Given the description of an element on the screen output the (x, y) to click on. 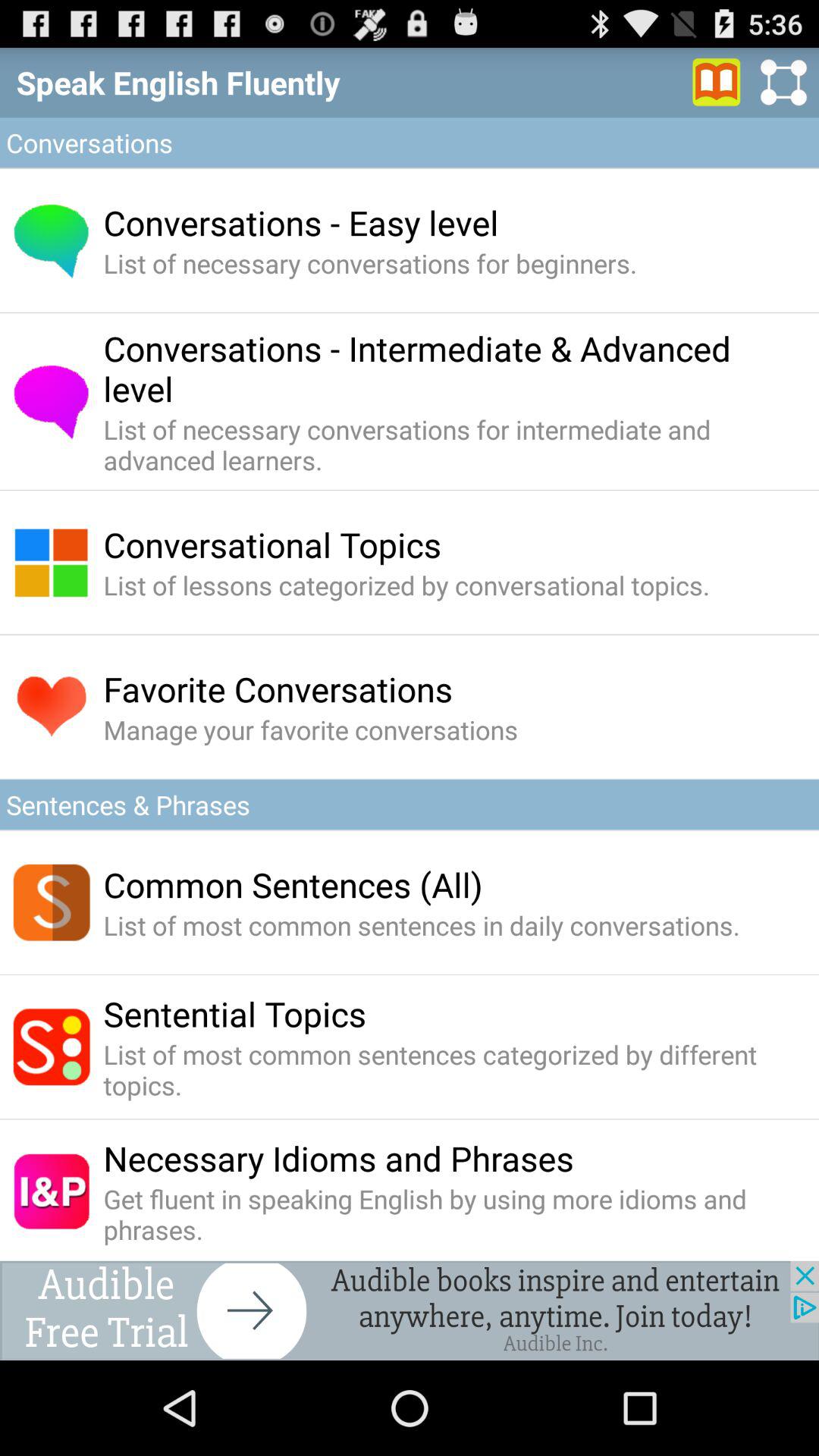
save this page (717, 82)
